Given the description of an element on the screen output the (x, y) to click on. 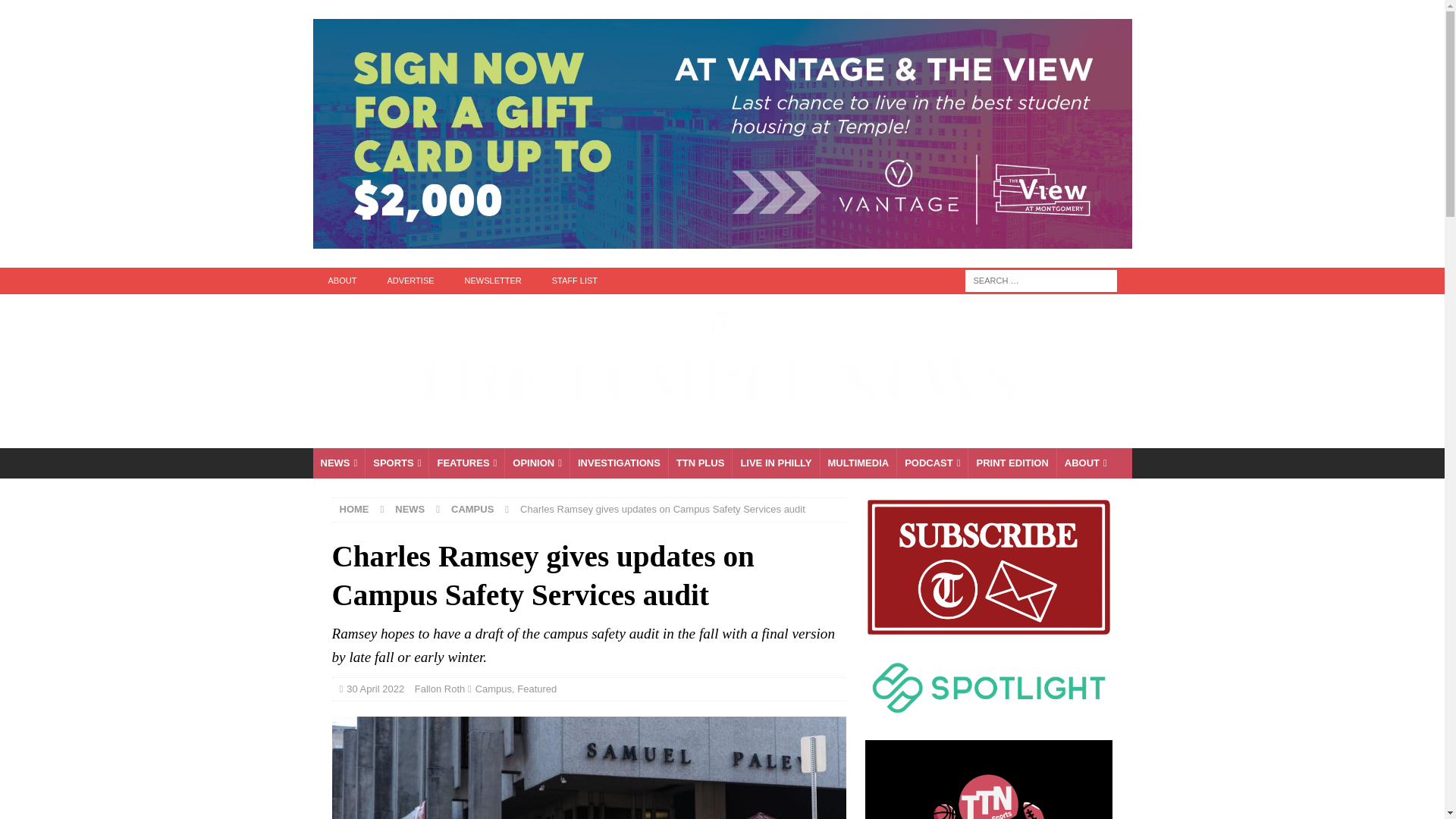
ADVERTISE (409, 280)
Posts by Fallon Roth (439, 688)
Search (56, 11)
STAFF LIST (574, 280)
Longform (700, 463)
ABOUT (342, 280)
NEWSLETTER (493, 280)
